Given the description of an element on the screen output the (x, y) to click on. 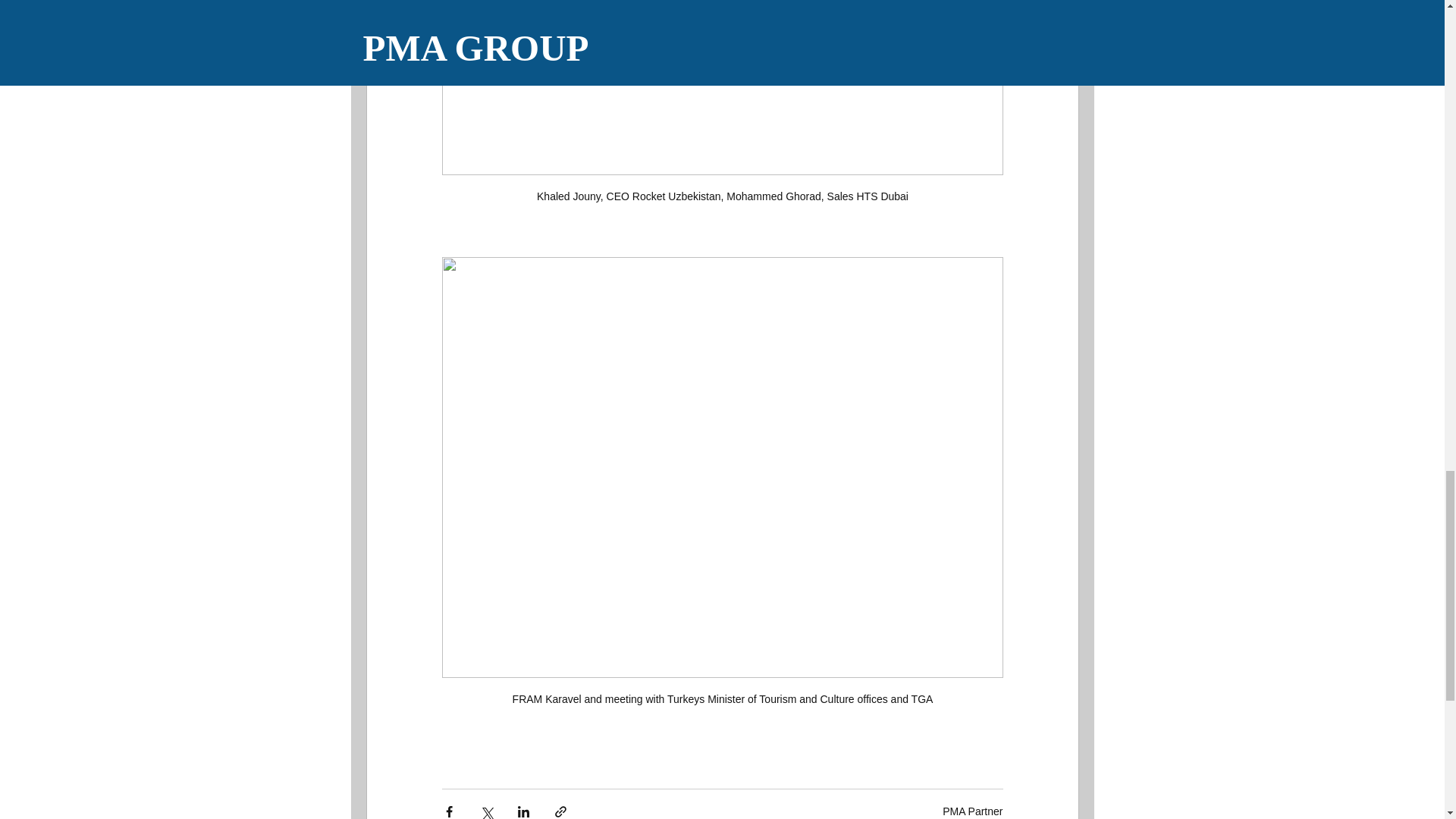
PMA Partner (972, 811)
